Given the description of an element on the screen output the (x, y) to click on. 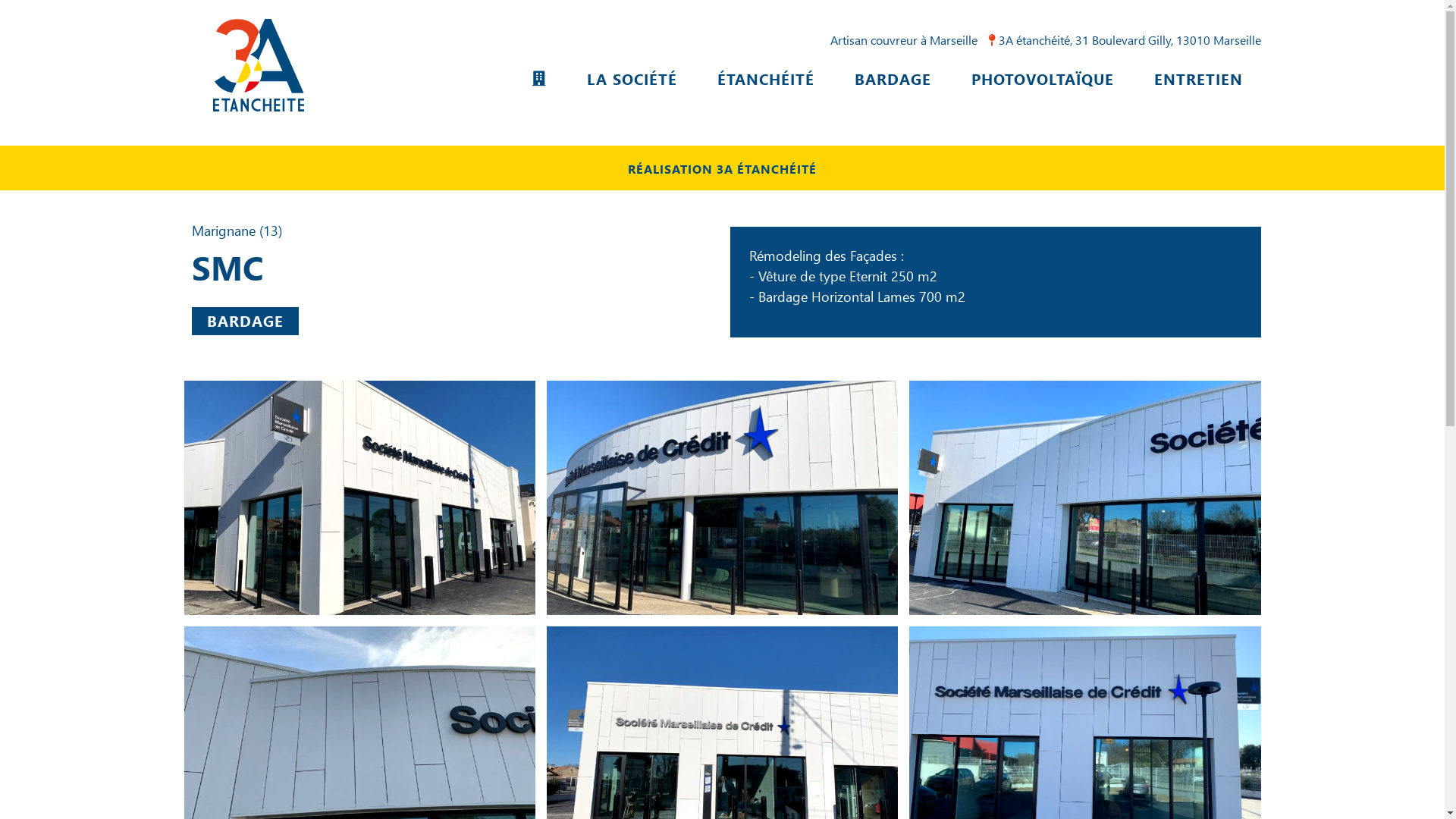
BARDAGE Element type: text (244, 321)
BARDAGE Element type: text (892, 78)
ENTRETIEN Element type: text (1198, 78)
